Given the description of an element on the screen output the (x, y) to click on. 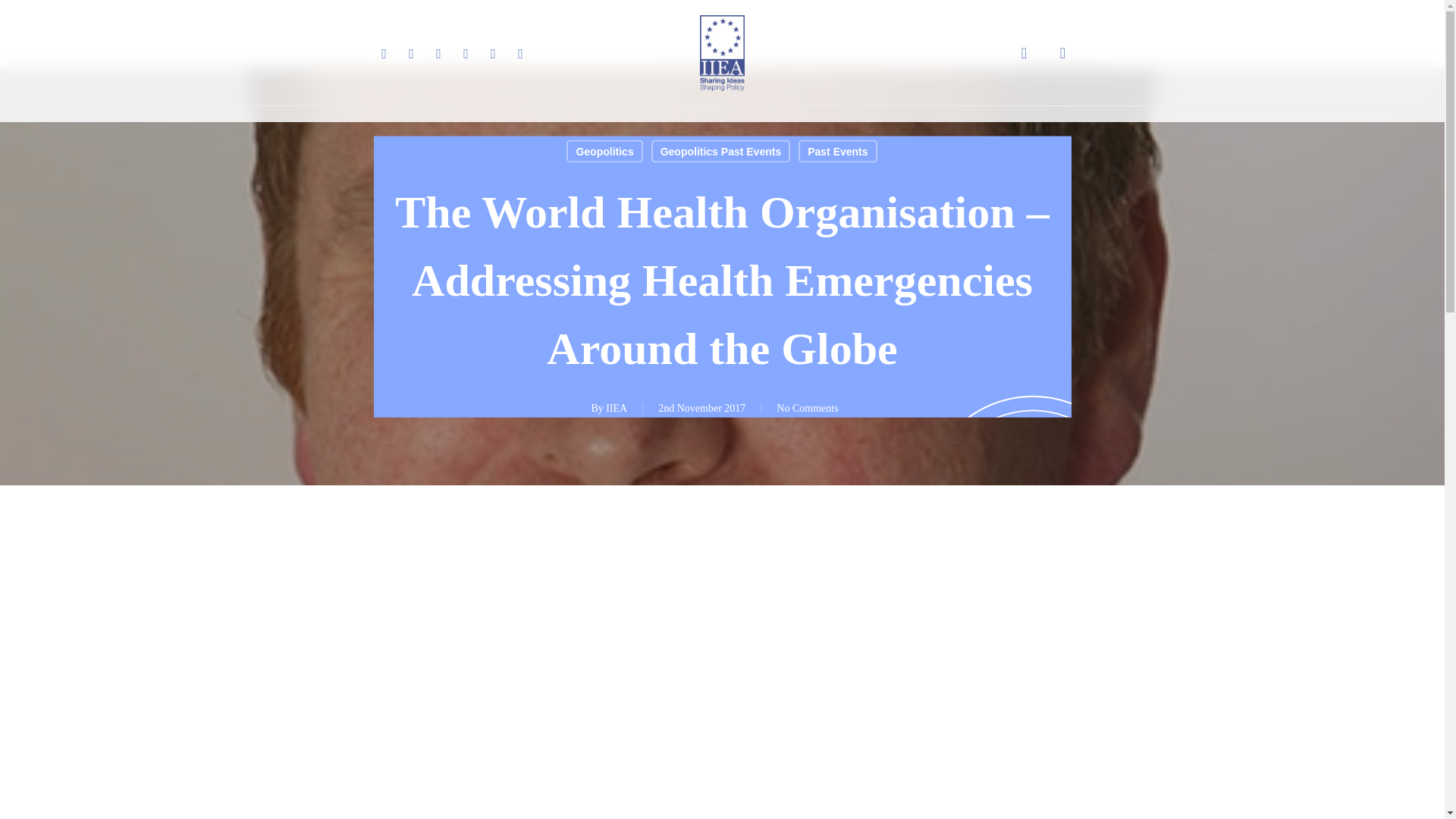
linkedin (438, 53)
spotify (520, 53)
Geopolitics (604, 150)
Posts by IIEA (616, 407)
search (1023, 53)
instagram (492, 53)
No Comments (807, 407)
Past Events (836, 150)
youtube (465, 53)
IIEA (616, 407)
